Given the description of an element on the screen output the (x, y) to click on. 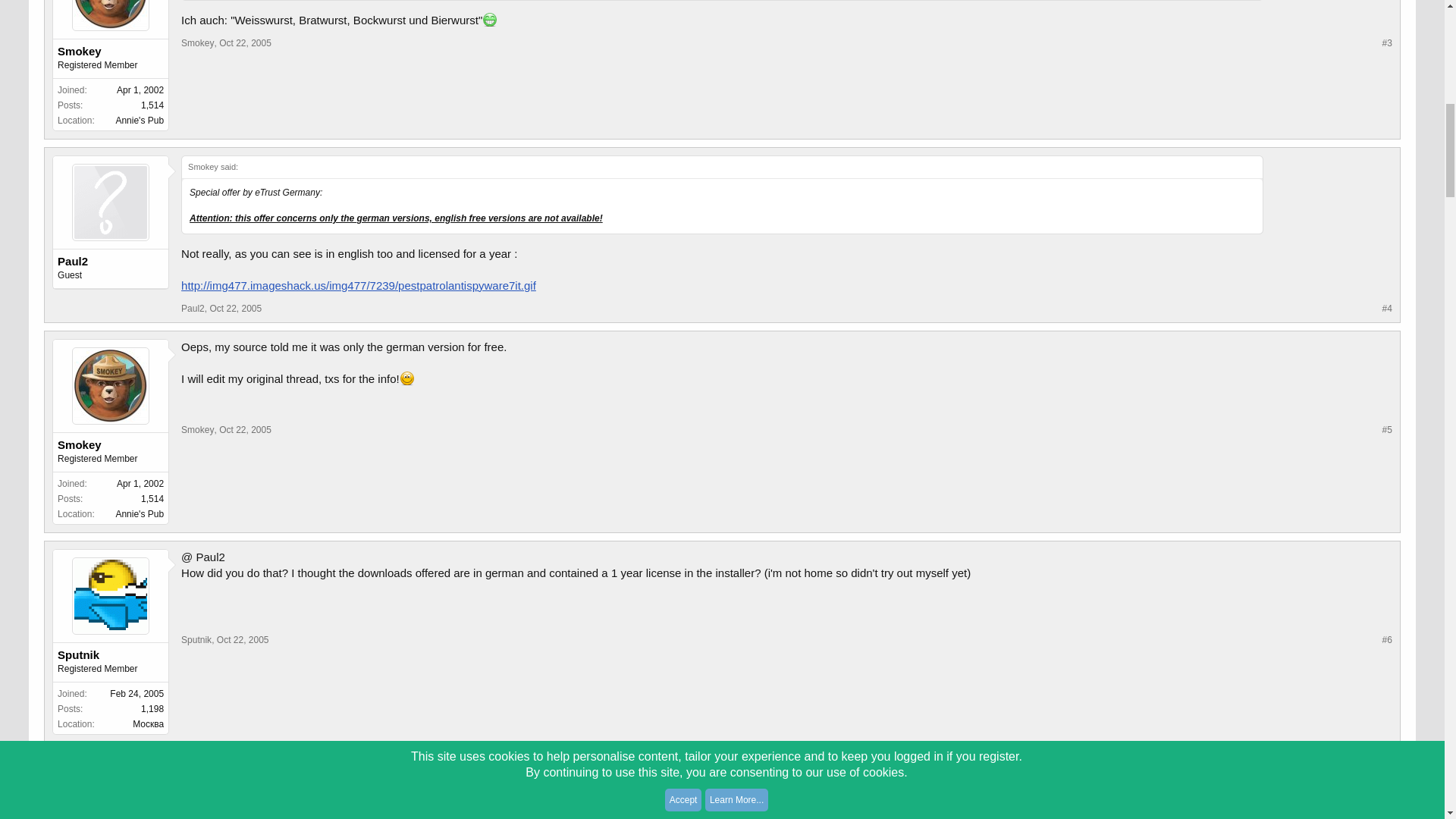
Permalink (235, 308)
Annie's Pub (139, 120)
Paul2 (192, 308)
Oct 22, 2005 (244, 42)
Big Grin    :D (489, 19)
Smokey (197, 42)
Permalink (244, 42)
Paul2 (110, 261)
Smokey (110, 51)
1,514 (152, 104)
